Given the description of an element on the screen output the (x, y) to click on. 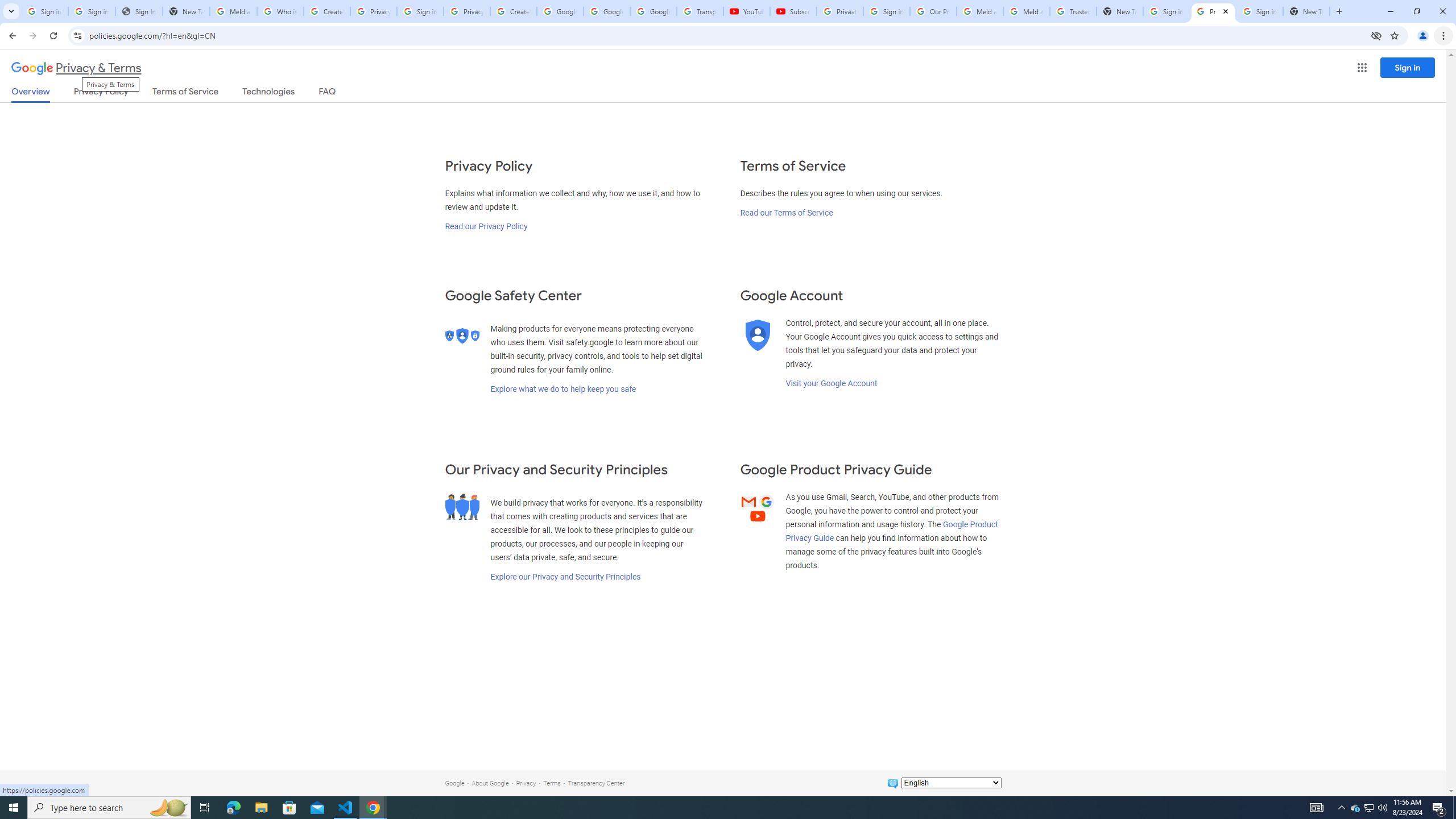
Read our Terms of Service (785, 212)
You (1422, 35)
YouTube (745, 11)
Overview (30, 94)
Reload (52, 35)
Sign in - Google Accounts (886, 11)
Close (1225, 11)
Chrome (1445, 35)
Trusted Information and Content - Google Safety Center (1073, 11)
Search tabs (10, 11)
Google Account (652, 11)
Who is my administrator? - Google Account Help (279, 11)
